Given the description of an element on the screen output the (x, y) to click on. 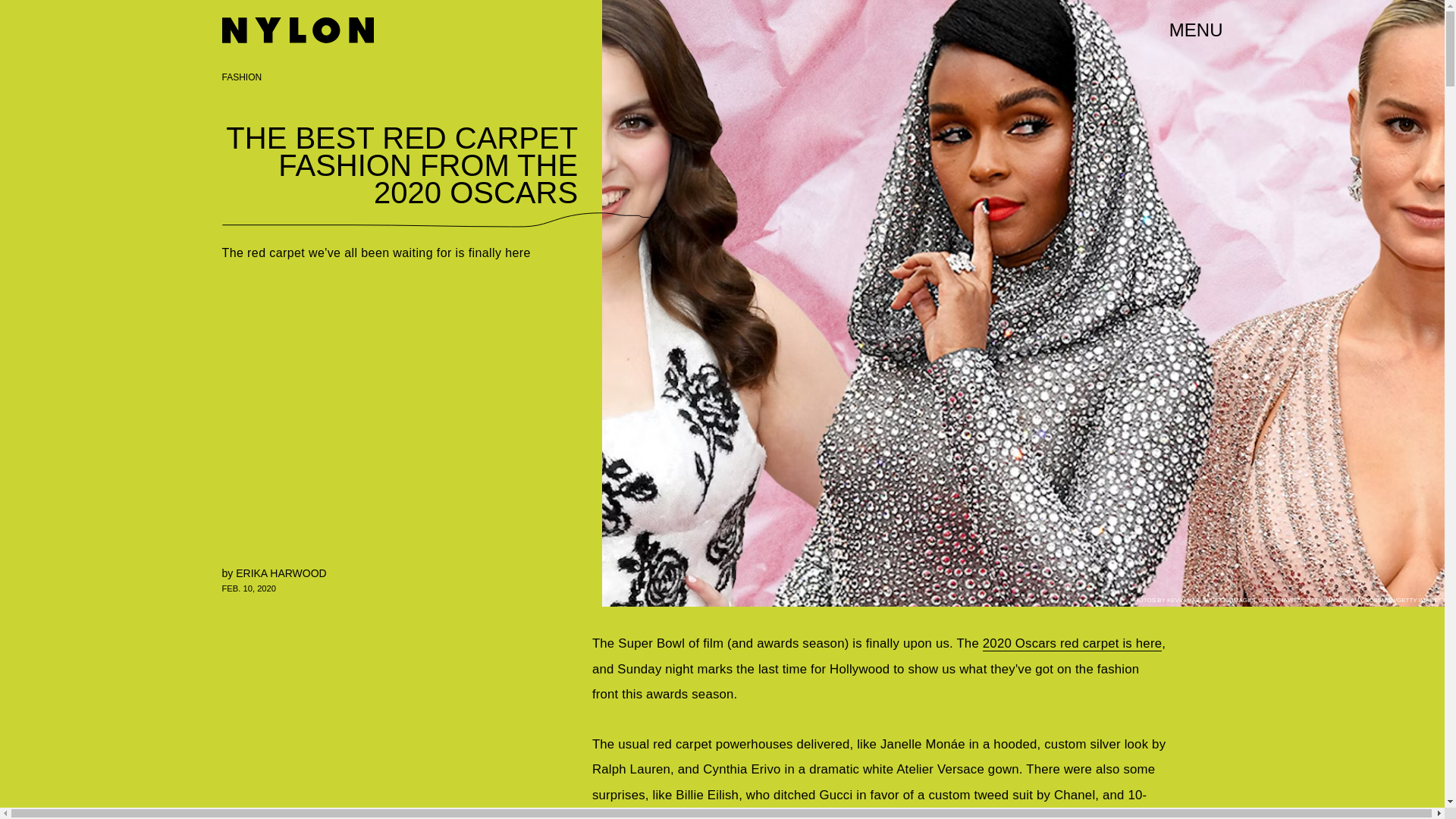
Nylon (296, 30)
2020 Oscars red carpet is here (1071, 643)
ERIKA HARWOOD (280, 573)
